Given the description of an element on the screen output the (x, y) to click on. 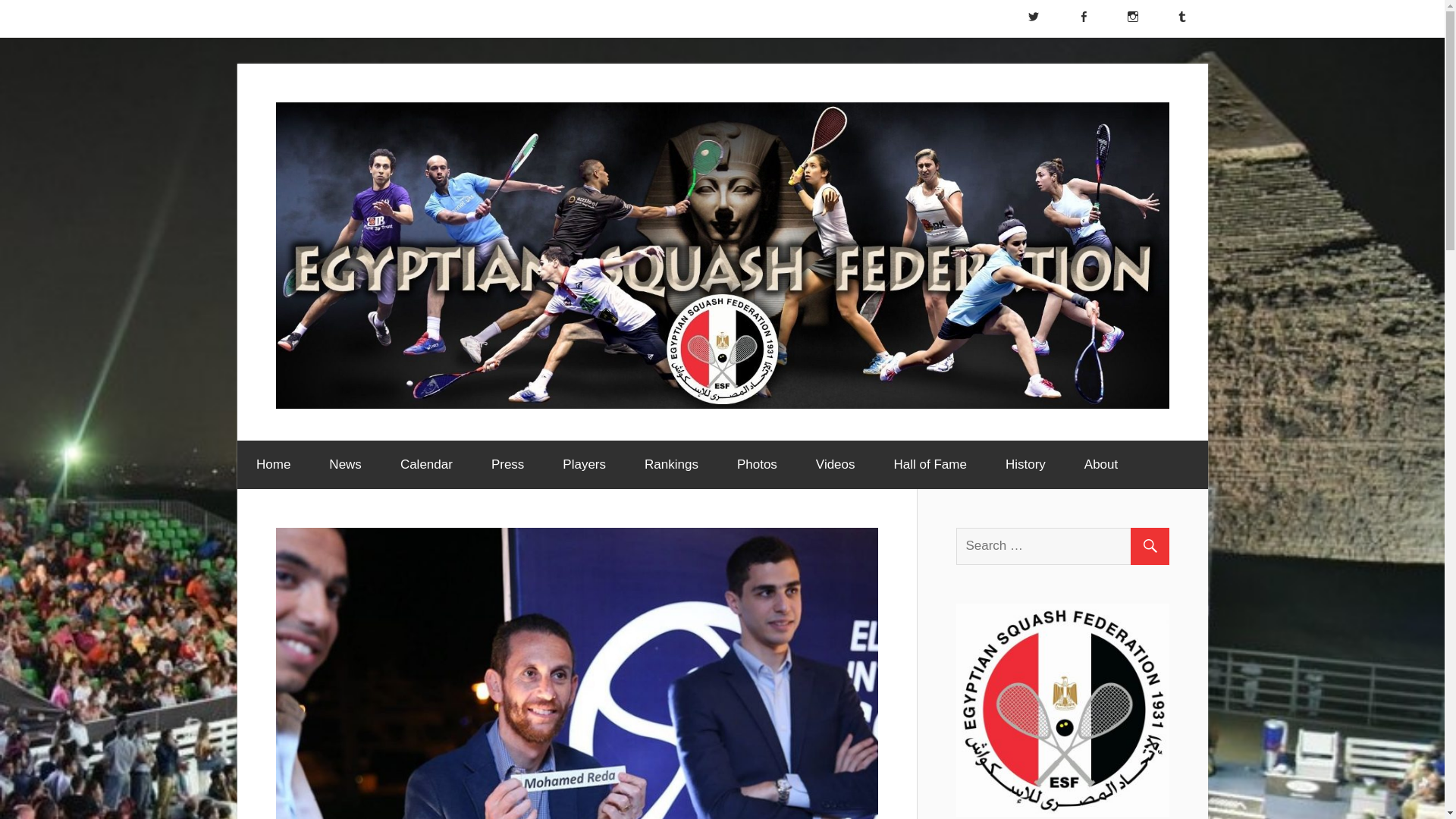
About (1105, 464)
Search for: (1068, 546)
Rankings (671, 464)
History (1024, 464)
Calendar (425, 464)
Photos (756, 464)
News (345, 464)
Home (271, 464)
Press (507, 464)
